Given the description of an element on the screen output the (x, y) to click on. 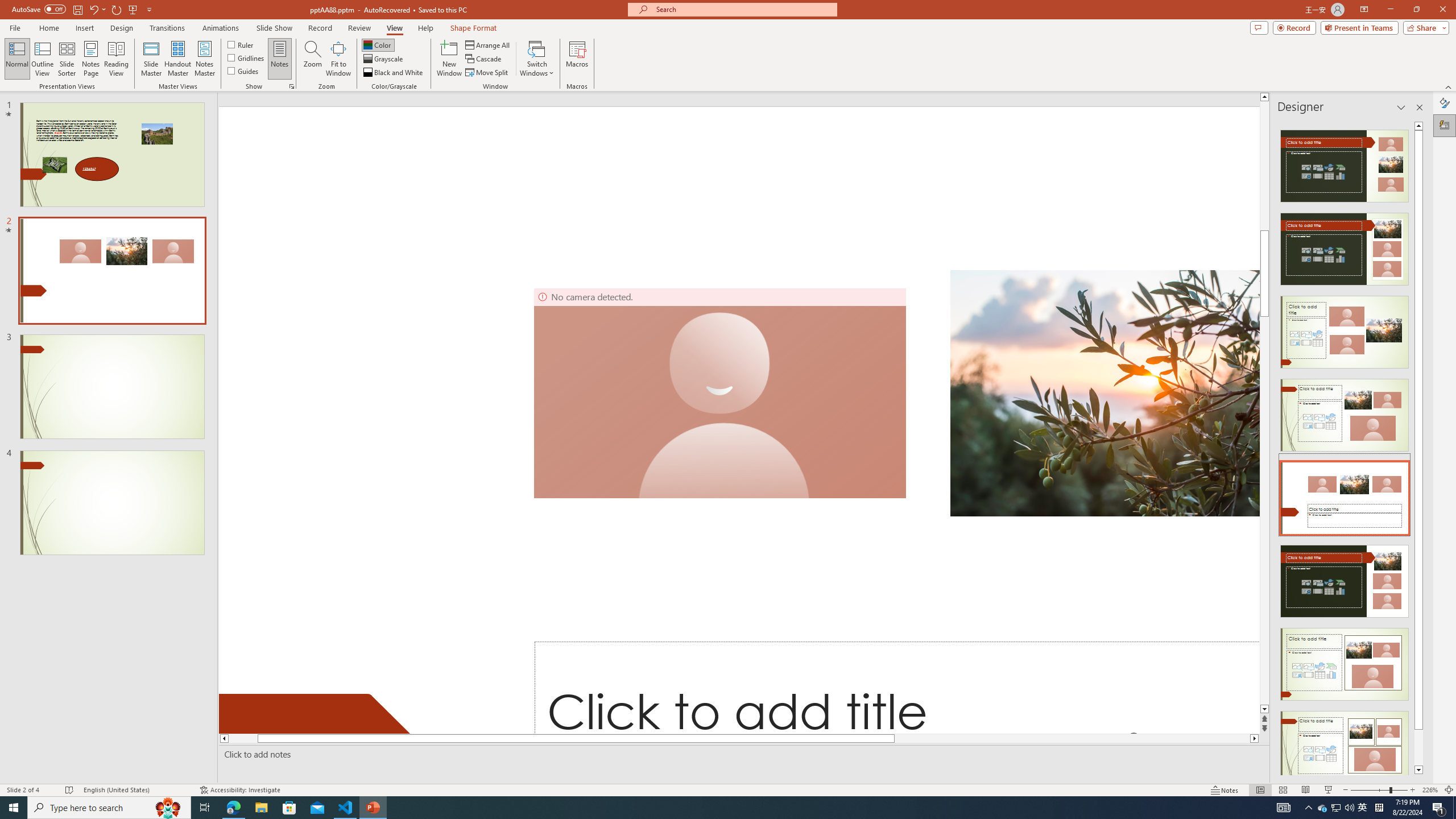
Switch Windows (537, 58)
Black and White (393, 72)
Fit to Window (338, 58)
